Given the description of an element on the screen output the (x, y) to click on. 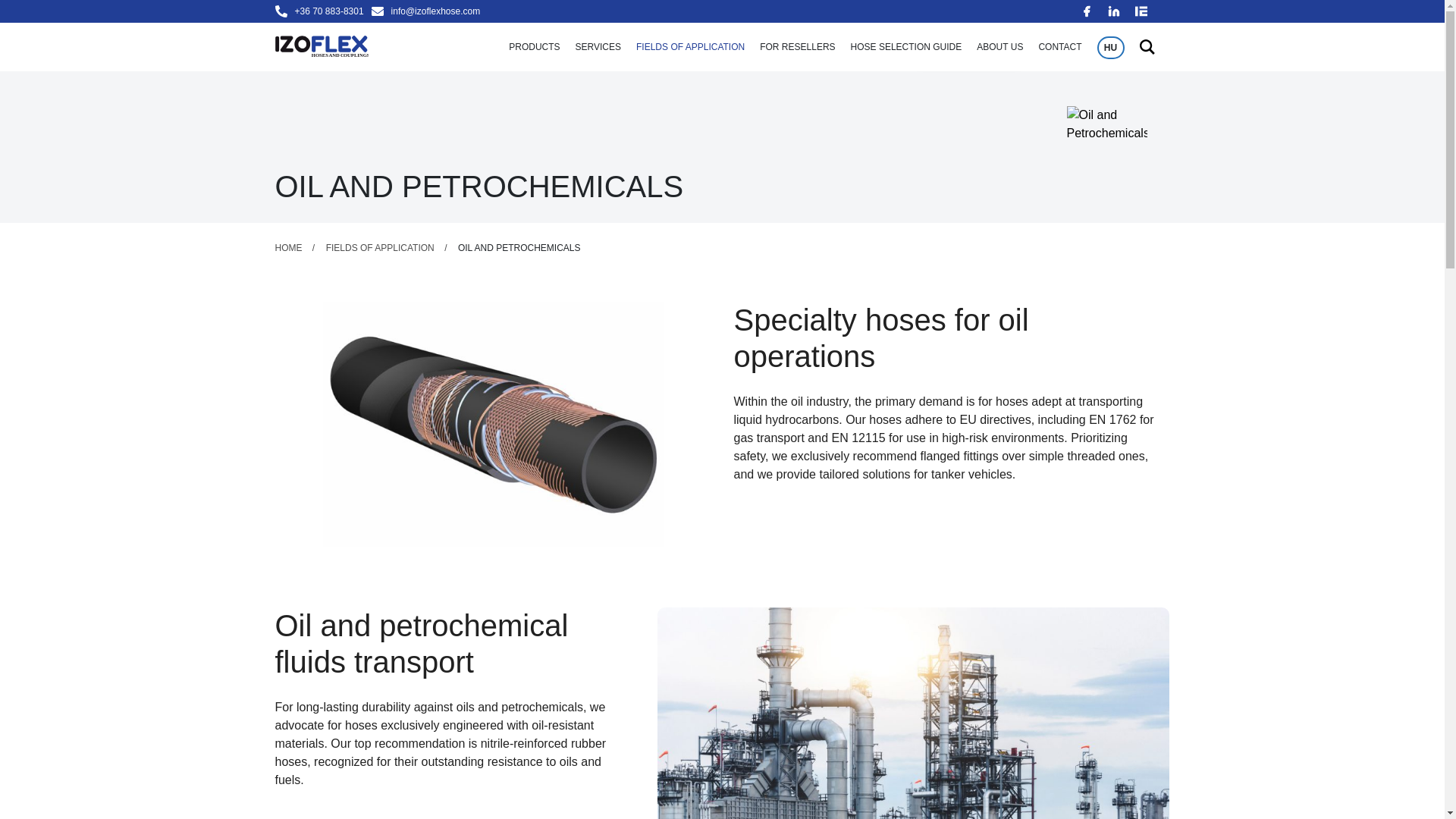
SERVICES (597, 46)
Chemical industry hoses (844, 7)
Premium rubber hoses (639, 24)
Flexible metal hoses (635, 7)
COUPLINGS (504, 7)
PRODUCTS (533, 46)
